Given the description of an element on the screen output the (x, y) to click on. 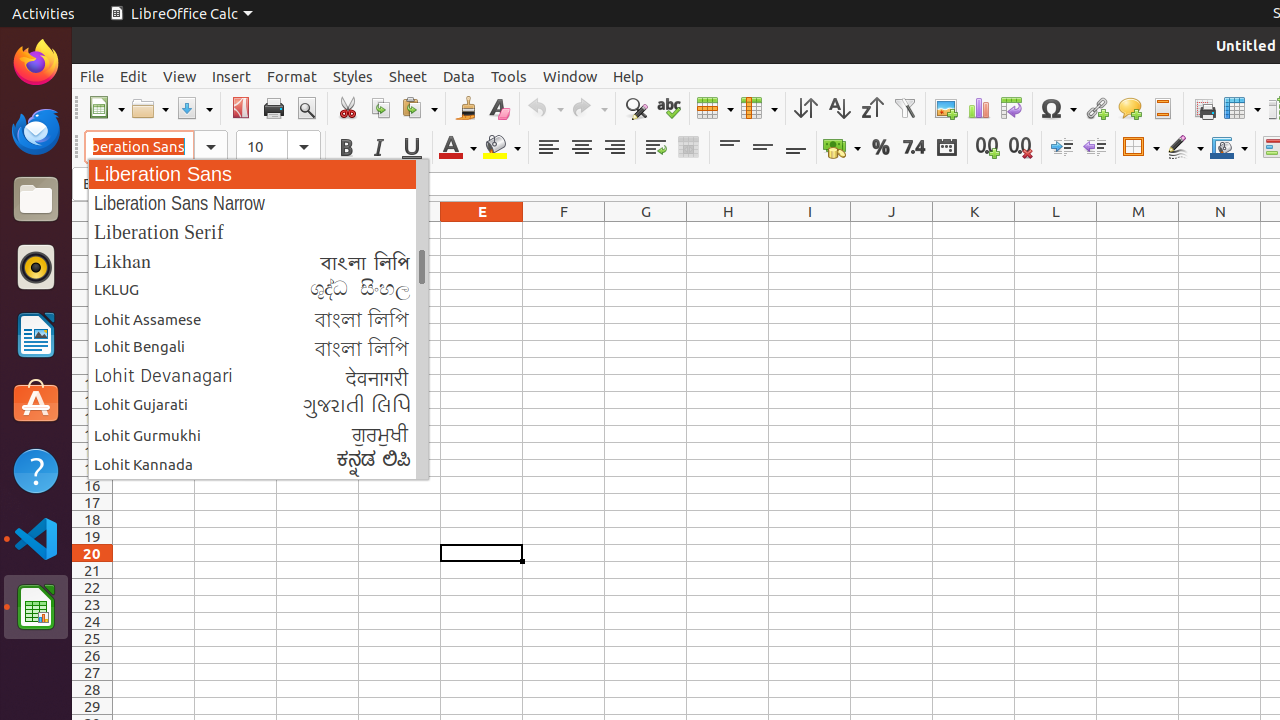
LibreOffice Calc Element type: menu (181, 13)
Save Element type: push-button (194, 108)
Align Top Element type: push-button (729, 147)
Sort Ascending Element type: push-button (838, 108)
N1 Element type: table-cell (1220, 230)
